Given the description of an element on the screen output the (x, y) to click on. 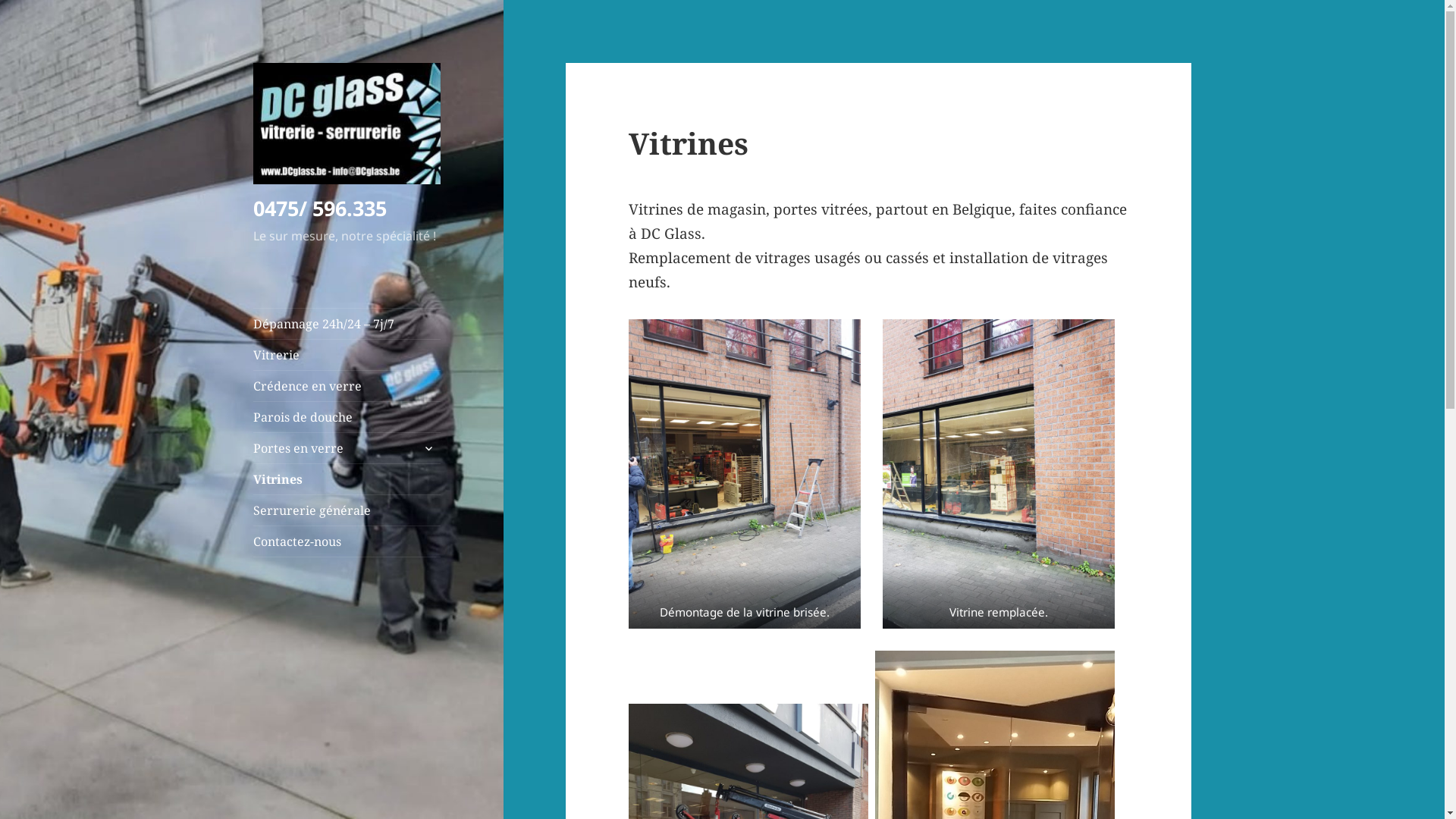
0475/ 596.335 Element type: text (319, 208)
ouvrir le sous-menu Element type: text (428, 448)
Vitrerie Element type: text (347, 354)
Contactez-nous Element type: text (347, 541)
Parois de douche Element type: text (347, 416)
Portes en verre Element type: text (347, 448)
Vitrines Element type: text (347, 479)
